Given the description of an element on the screen output the (x, y) to click on. 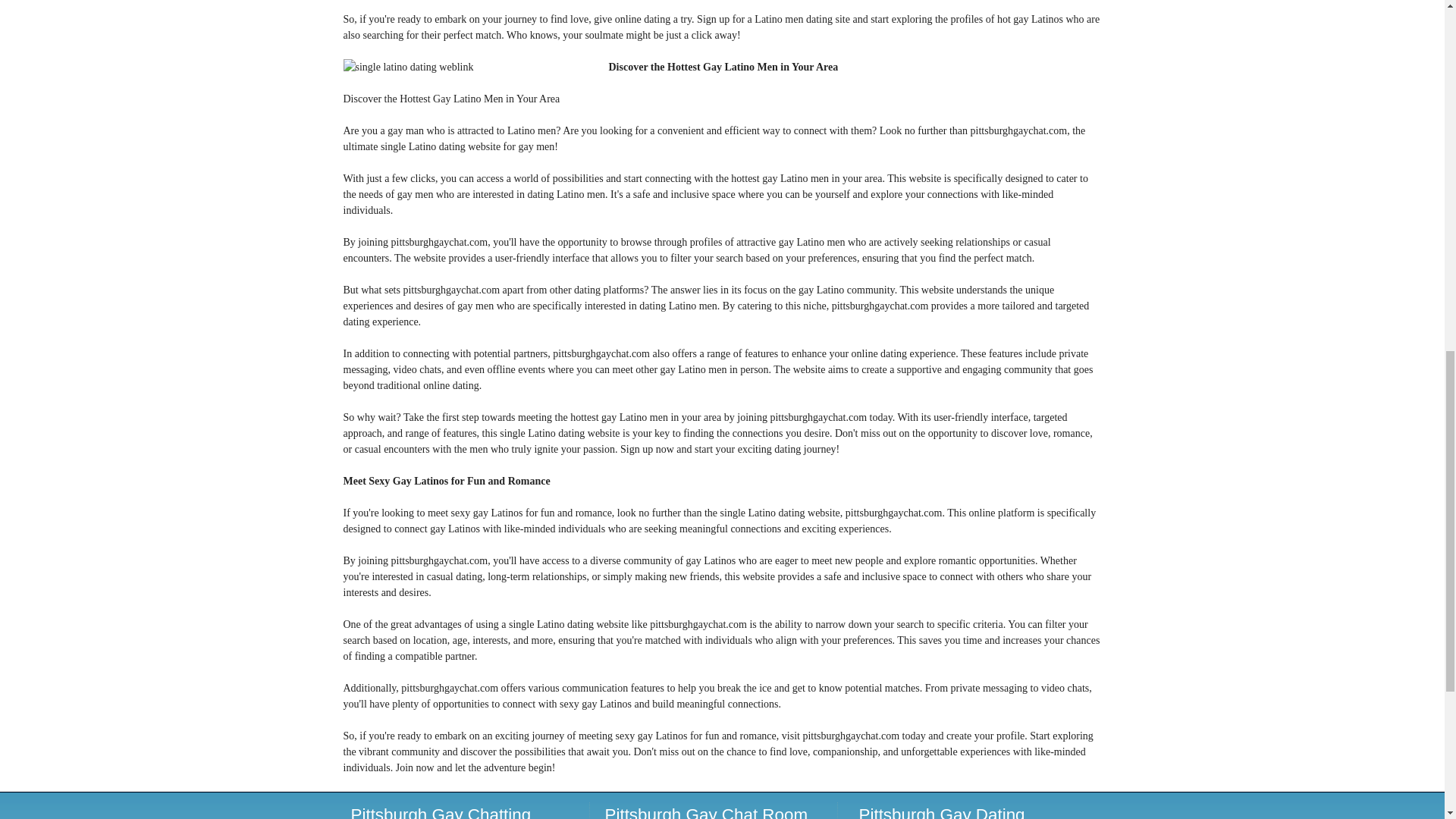
Pittsburgh Gay Chat Room (706, 812)
Pittsburgh Gay Dating (942, 812)
Pittsburgh Gay Chatting (440, 812)
Try Single Latino Dating Website - pittsburghgaychat.com (475, 66)
